Given the description of an element on the screen output the (x, y) to click on. 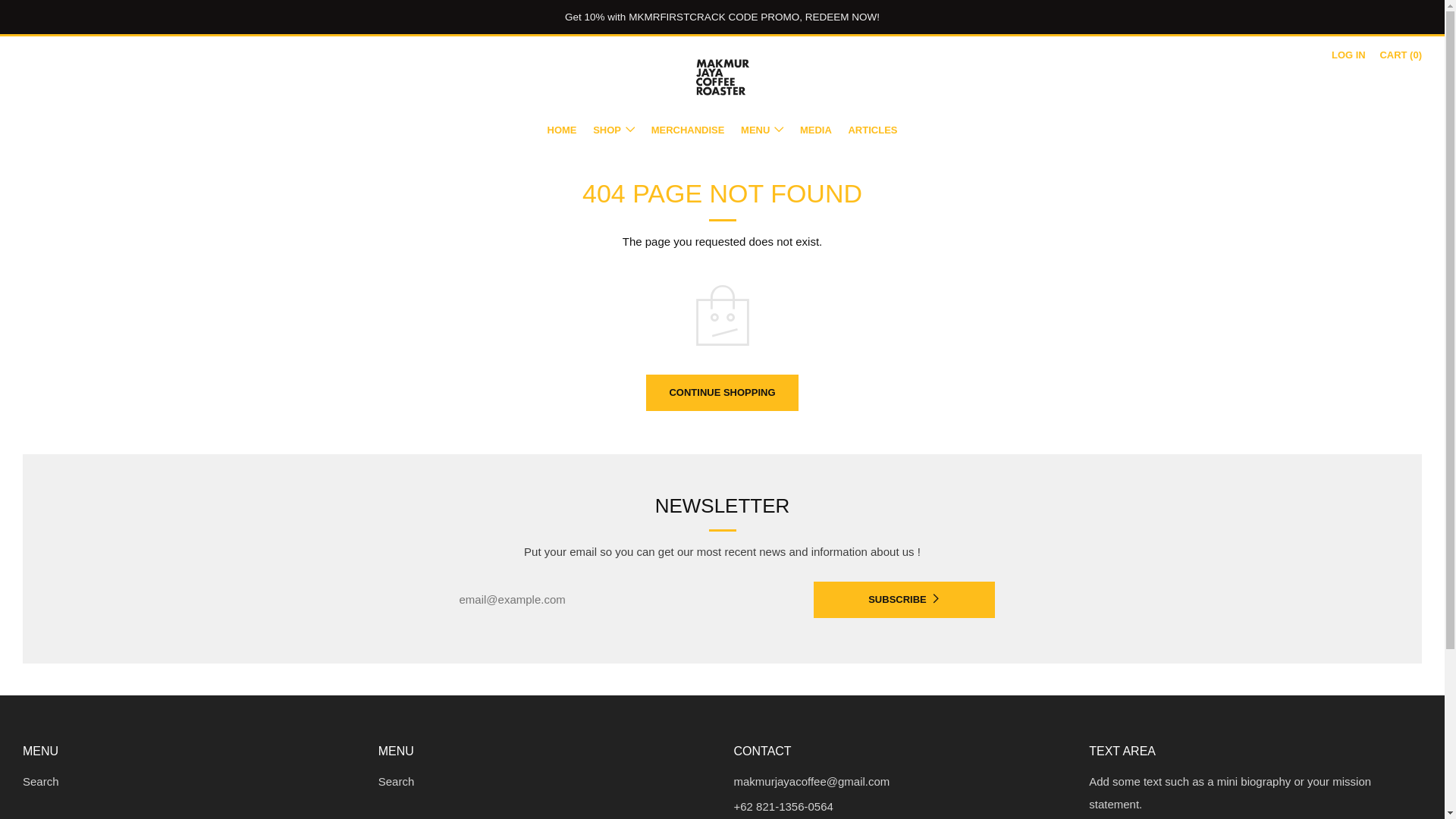
MEDIA (815, 129)
CONTINUE SHOPPING (721, 392)
HOME (561, 129)
SUBSCRIBE (903, 599)
MERCHANDISE (687, 129)
MENU (762, 129)
ARTICLES (871, 129)
LOG IN (1348, 55)
Search (396, 780)
Search (41, 780)
